Given the description of an element on the screen output the (x, y) to click on. 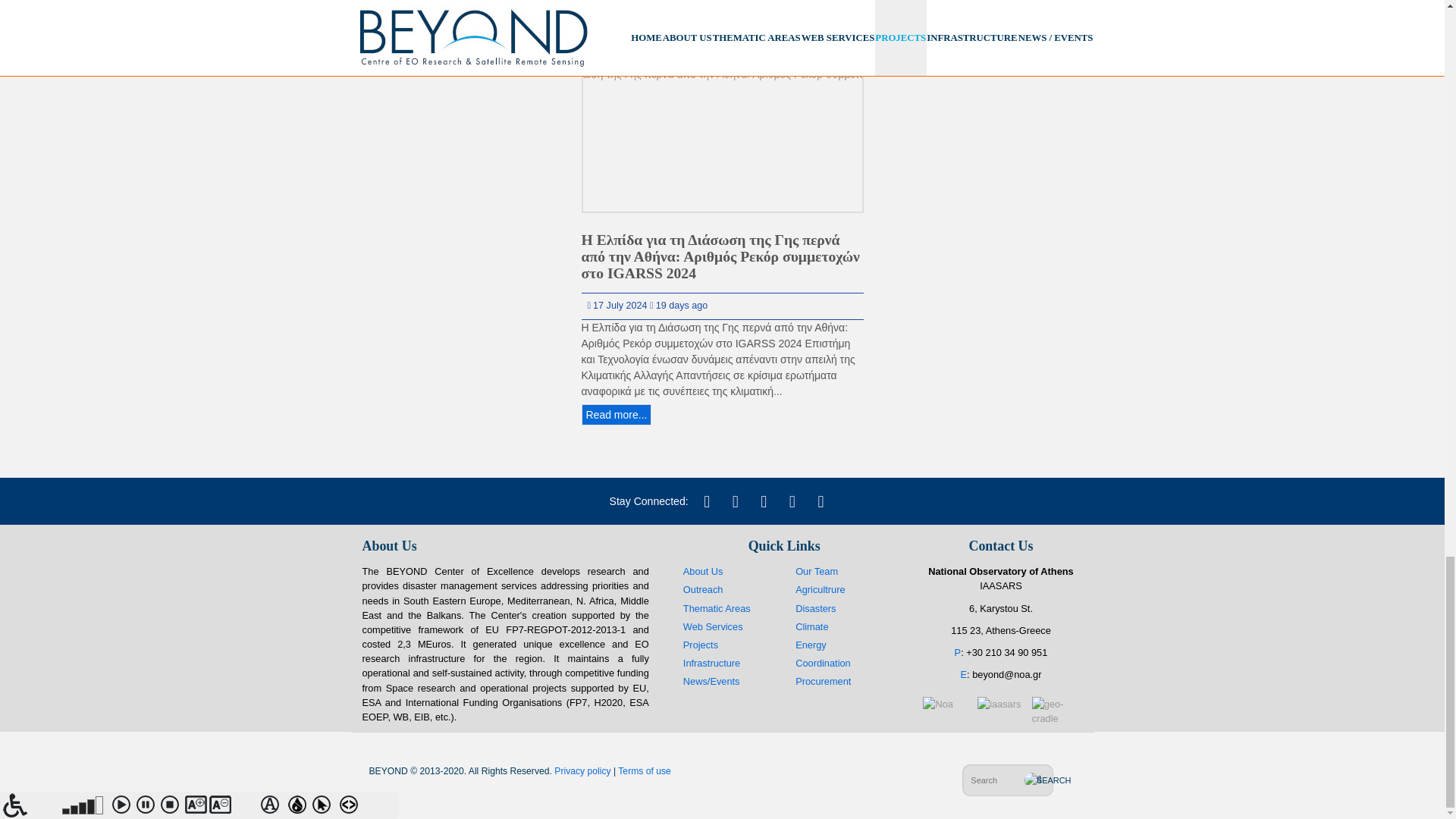
Linkedin (763, 500)
Facebook (734, 500)
Youtube (820, 500)
Instagram (791, 500)
Twitter (706, 500)
